Given the description of an element on the screen output the (x, y) to click on. 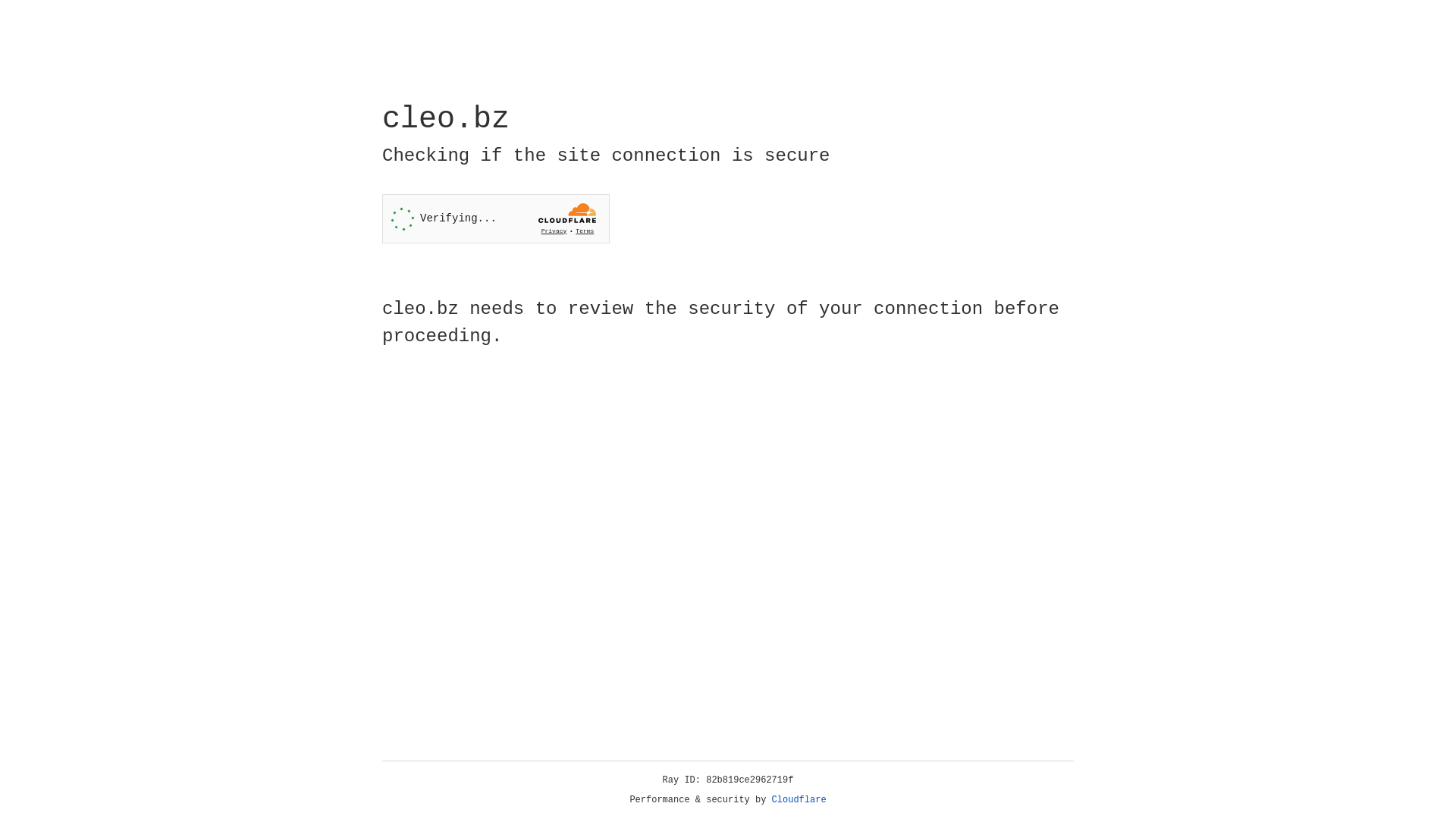
Cloudflare Element type: text (798, 799)
Widget containing a Cloudflare security challenge Element type: hover (495, 218)
